Given the description of an element on the screen output the (x, y) to click on. 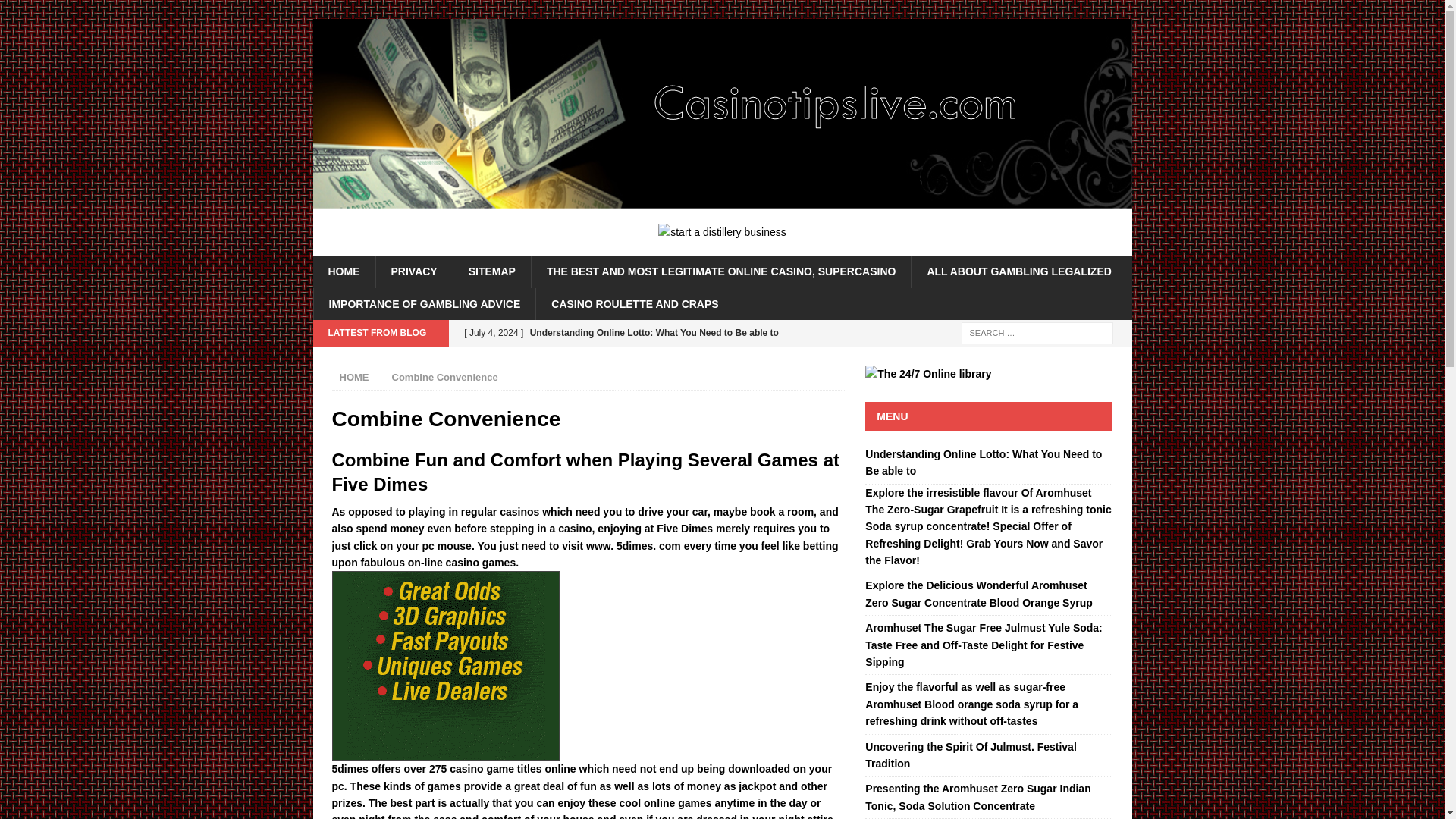
HOME (343, 271)
start a distillery business (722, 231)
PRIVACY (412, 271)
THE BEST AND MOST LEGITIMATE ONLINE CASINO, SUPERCASINO (721, 271)
IMPORTANCE OF GAMBLING ADVICE (424, 304)
Understanding Online Lotto: What You Need to Be able to (983, 461)
HOME (354, 377)
SITEMAP (491, 271)
Casinotipslive (722, 200)
 Understanding Online Lotto: What You Need to Be able to (649, 345)
